Given the description of an element on the screen output the (x, y) to click on. 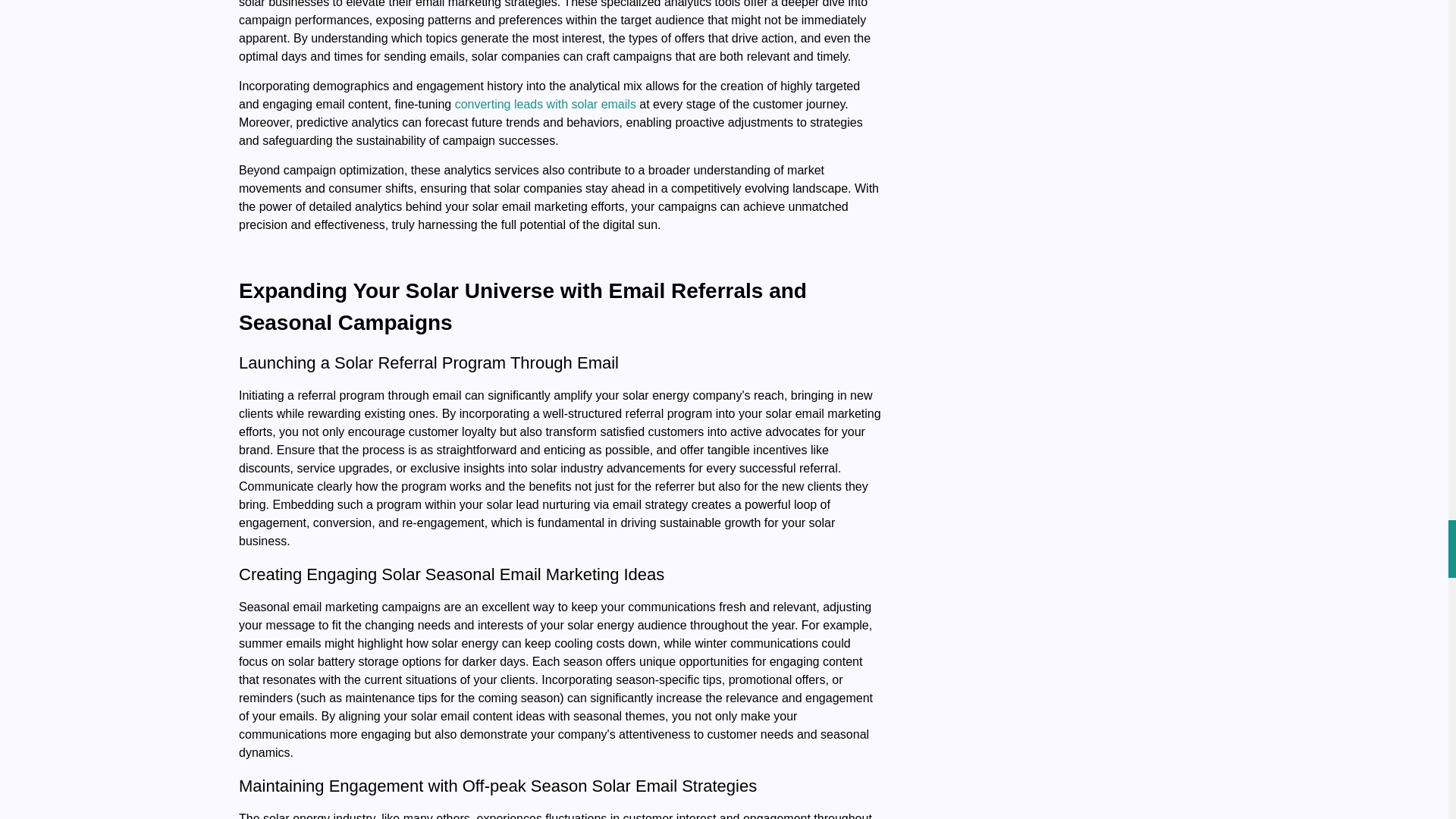
converting leads with solar emails (545, 103)
